Given the description of an element on the screen output the (x, y) to click on. 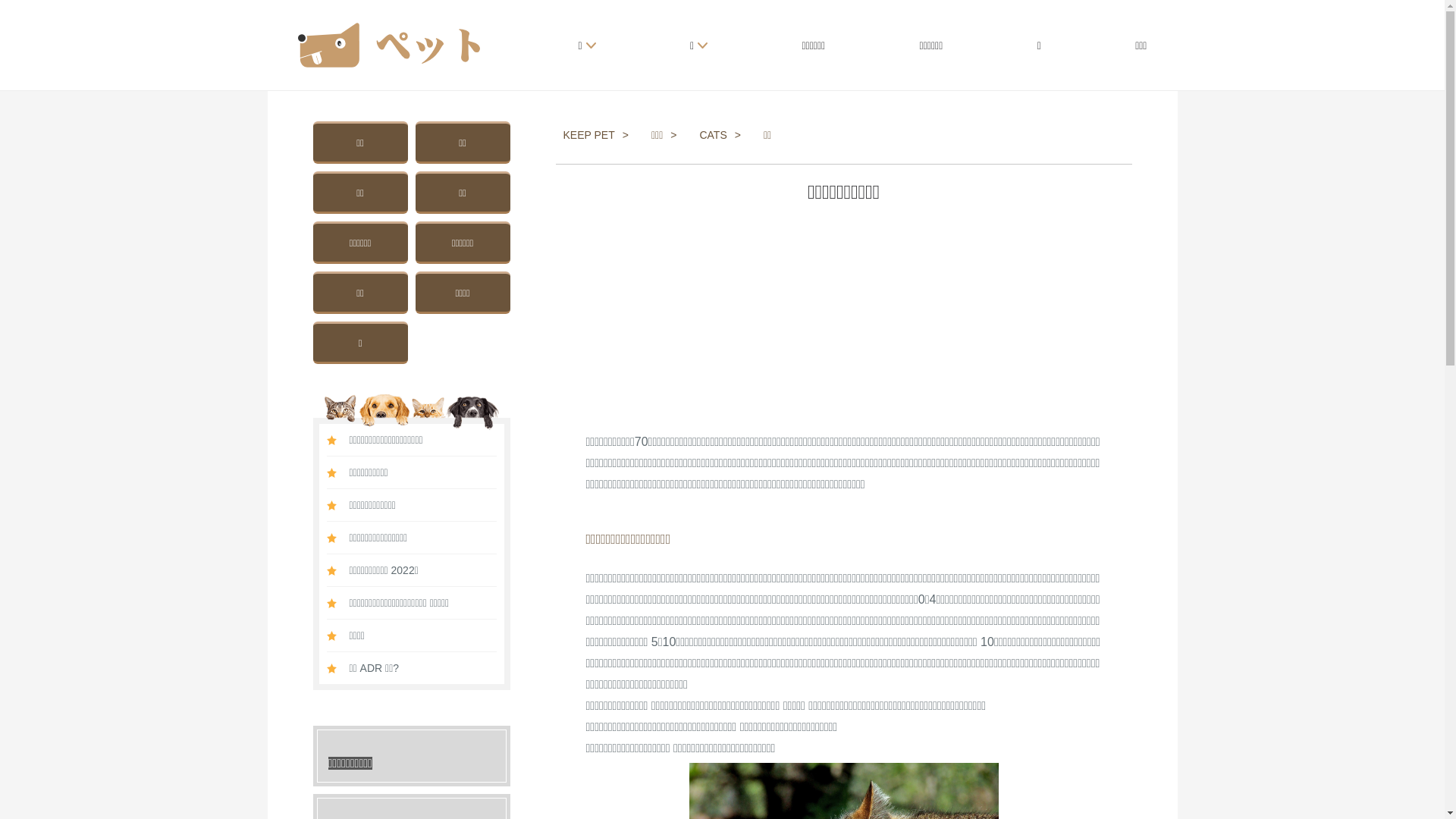
Advertisement Element type: hover (843, 317)
CATS Element type: text (723, 134)
KEEP PET Element type: text (599, 134)
